Given the description of an element on the screen output the (x, y) to click on. 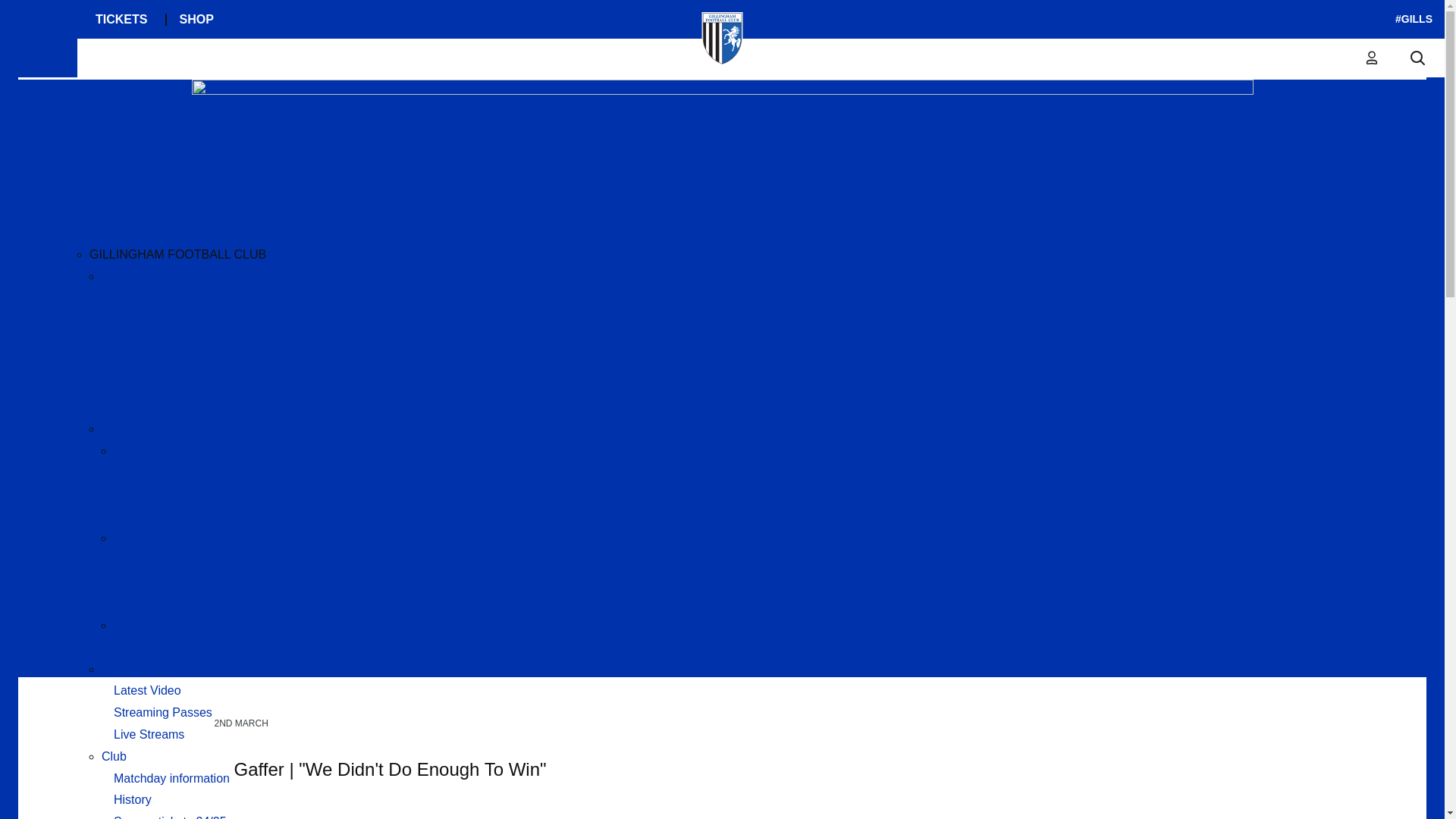
Commercial News (162, 406)
Management profiles (181, 646)
Live Streams (148, 734)
Match Previews (156, 341)
Watch (118, 668)
Fixtures (146, 493)
News (116, 276)
First Team (141, 450)
History (132, 799)
Gillingham Football Club (191, 142)
